Given the description of an element on the screen output the (x, y) to click on. 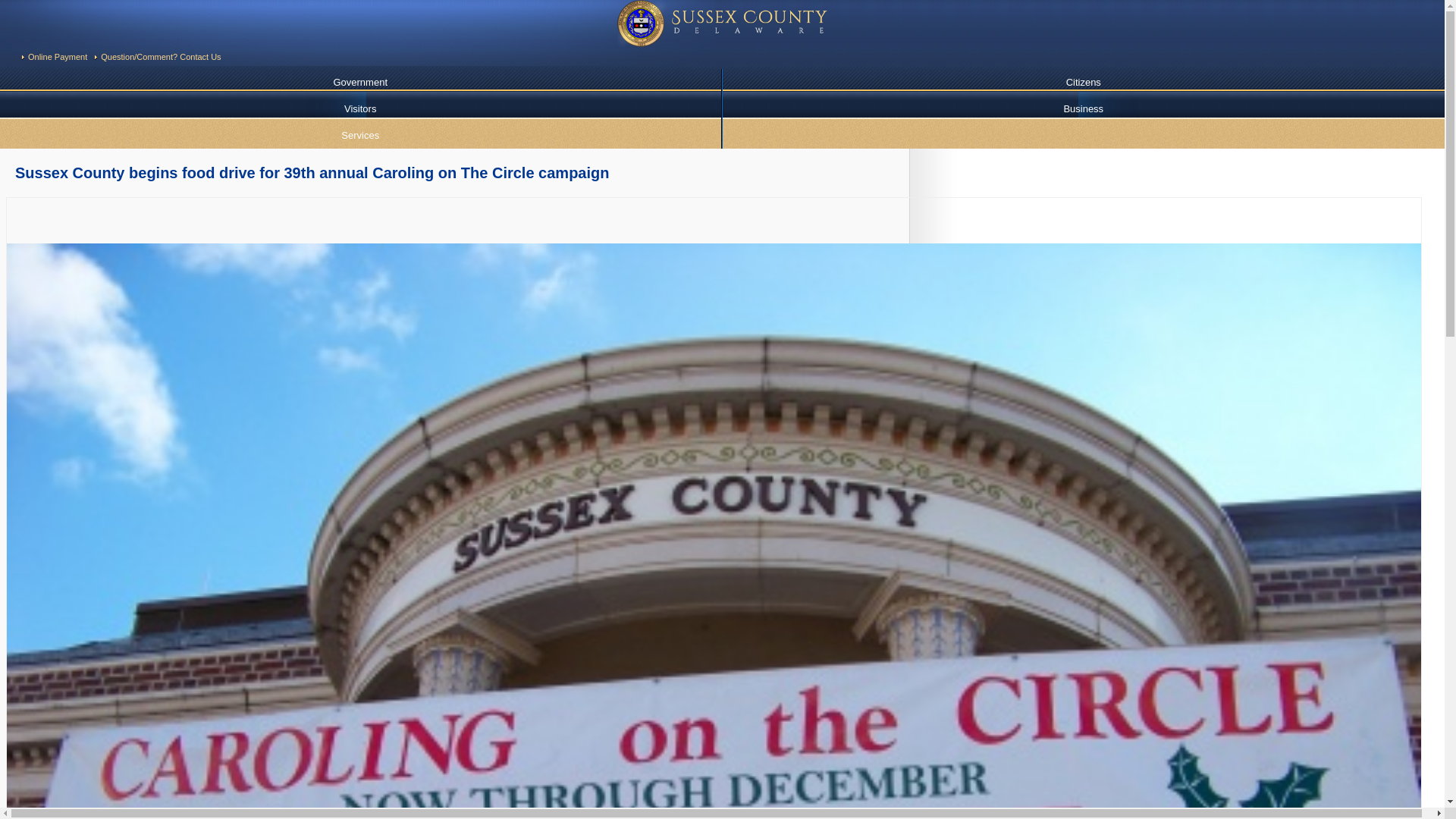
Services (360, 135)
Business (1083, 108)
Visitors (360, 108)
Government (360, 81)
Citizens (1083, 81)
Online Payment (57, 57)
